Given the description of an element on the screen output the (x, y) to click on. 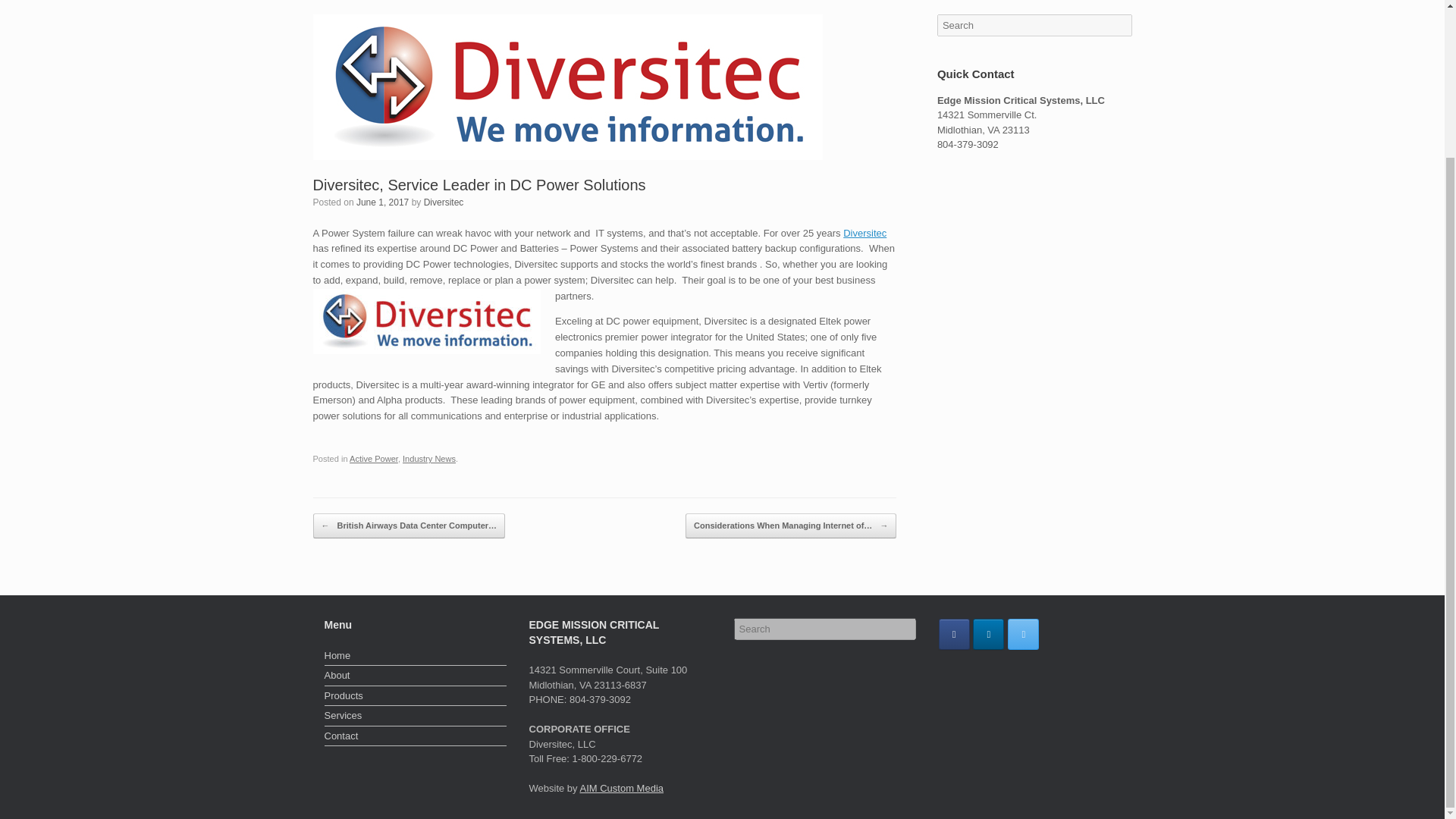
EdgeMCS on Twitter (1023, 634)
Home (415, 657)
View all posts by Diversitec (443, 202)
June 1, 2017 (382, 202)
6:00 PM (382, 202)
Products (415, 697)
Industry News (429, 458)
Diversitec (864, 232)
Contact (415, 737)
Diversitec (443, 202)
AIM Custom Media (621, 787)
EdgeMCS on Facebook (954, 634)
About (415, 677)
EdgeMCS on Linkedin (988, 634)
Active Power (373, 458)
